Given the description of an element on the screen output the (x, y) to click on. 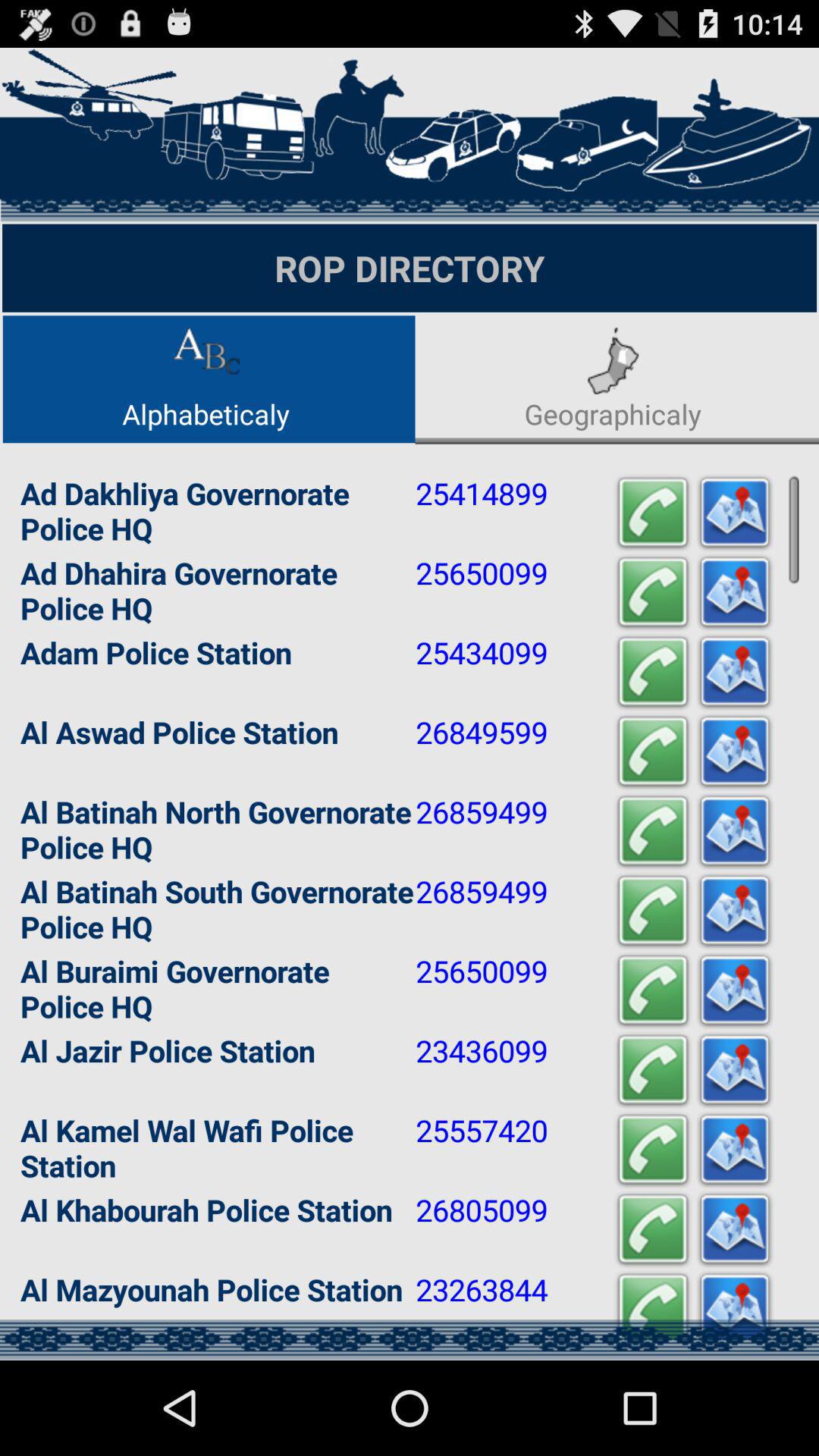
al aswad police station phone number symbol (652, 751)
